Given the description of an element on the screen output the (x, y) to click on. 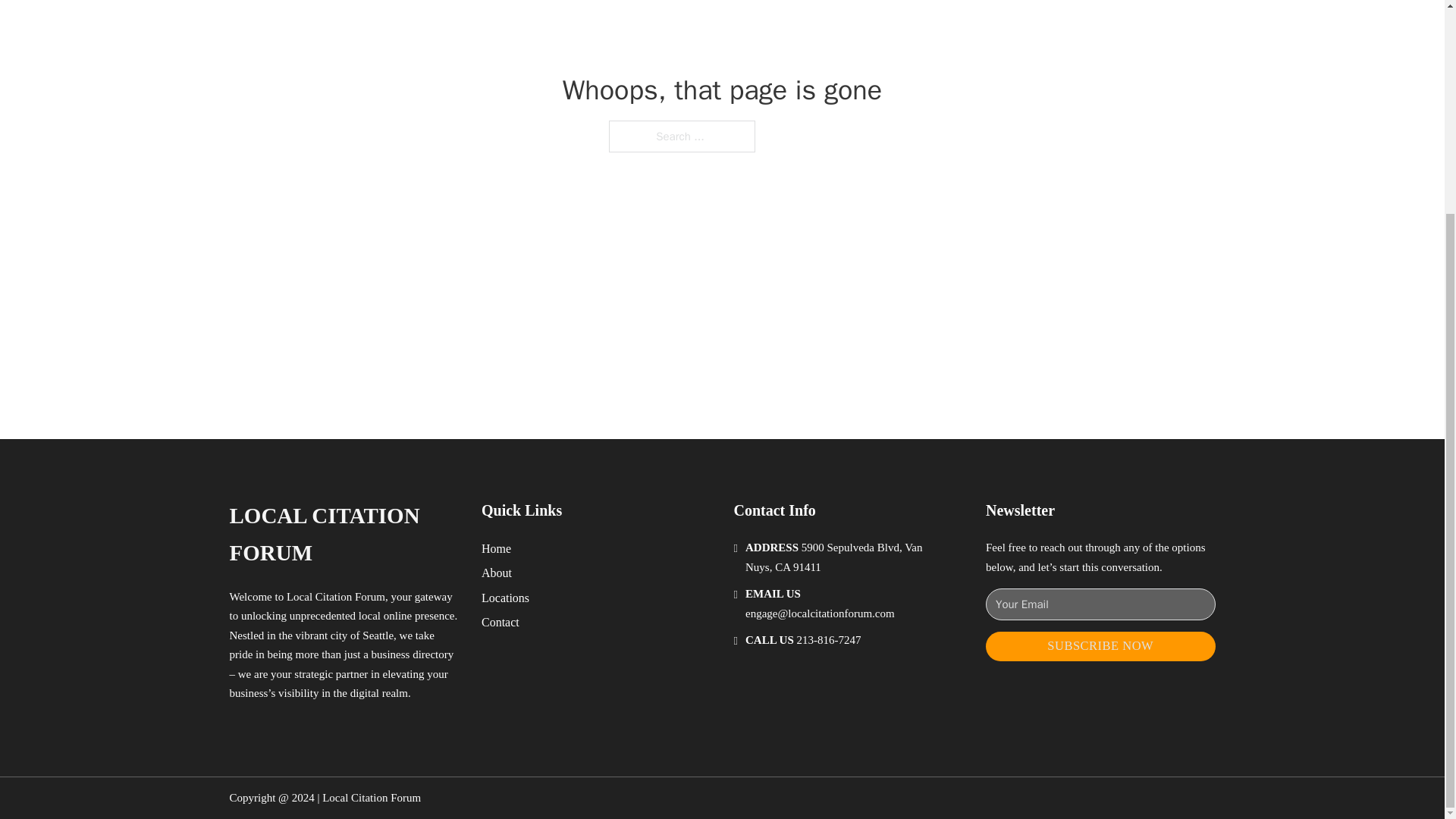
Contact (500, 621)
Home (496, 548)
LOCAL CITATION FORUM (343, 534)
SUBSCRIBE NOW (1100, 645)
Locations (505, 598)
About (496, 572)
